Given the description of an element on the screen output the (x, y) to click on. 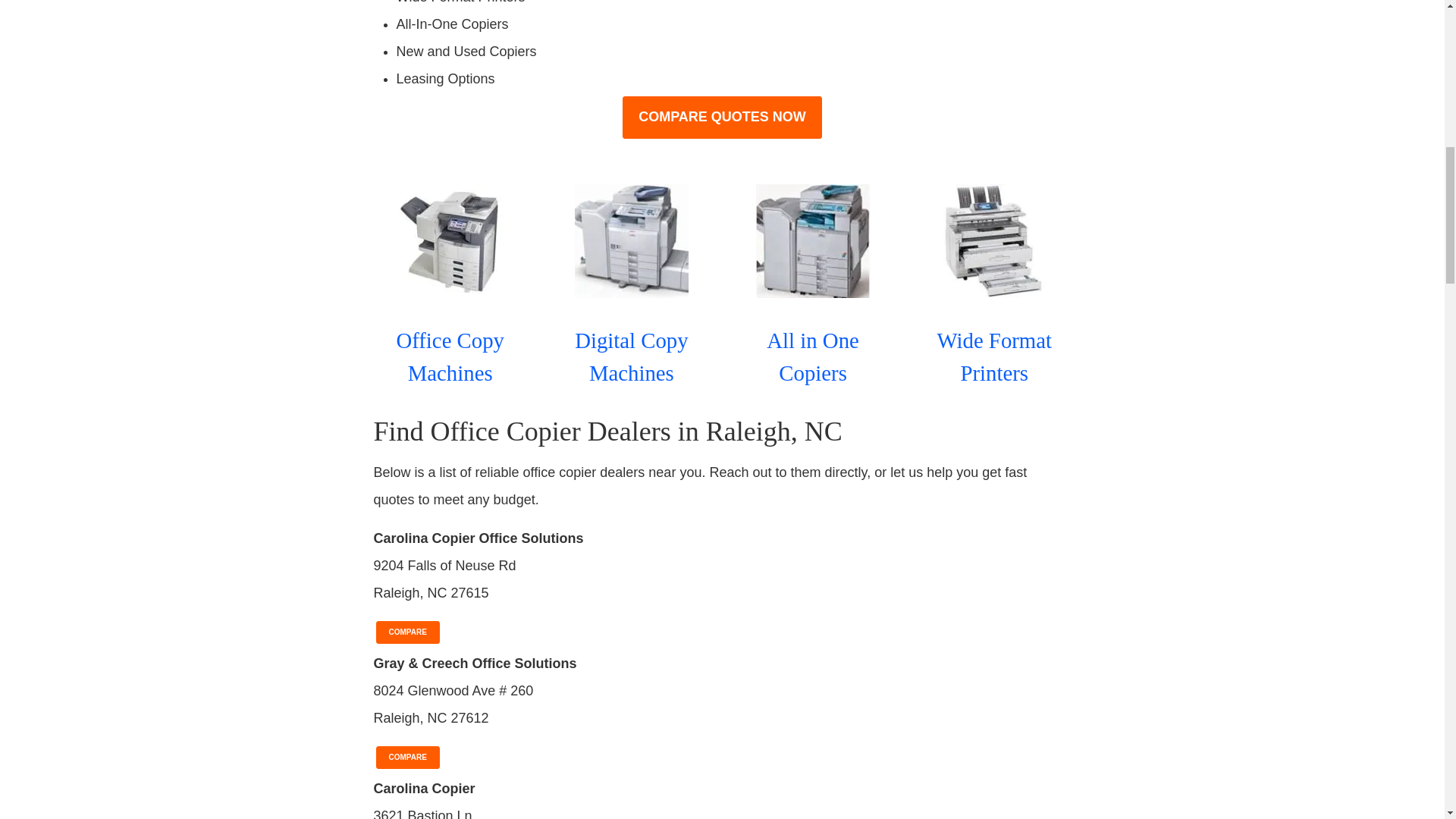
COMPARE QUOTES NOW (722, 117)
COMPARE (407, 755)
COMPARE (407, 629)
COMPARE (407, 755)
Digital Copy Machines (631, 356)
All in One Copiers (813, 356)
COMPARE QUOTES NOW (722, 117)
Wide Format Printers (994, 356)
COMPARE (407, 629)
Office Copy Machines (449, 356)
